Given the description of an element on the screen output the (x, y) to click on. 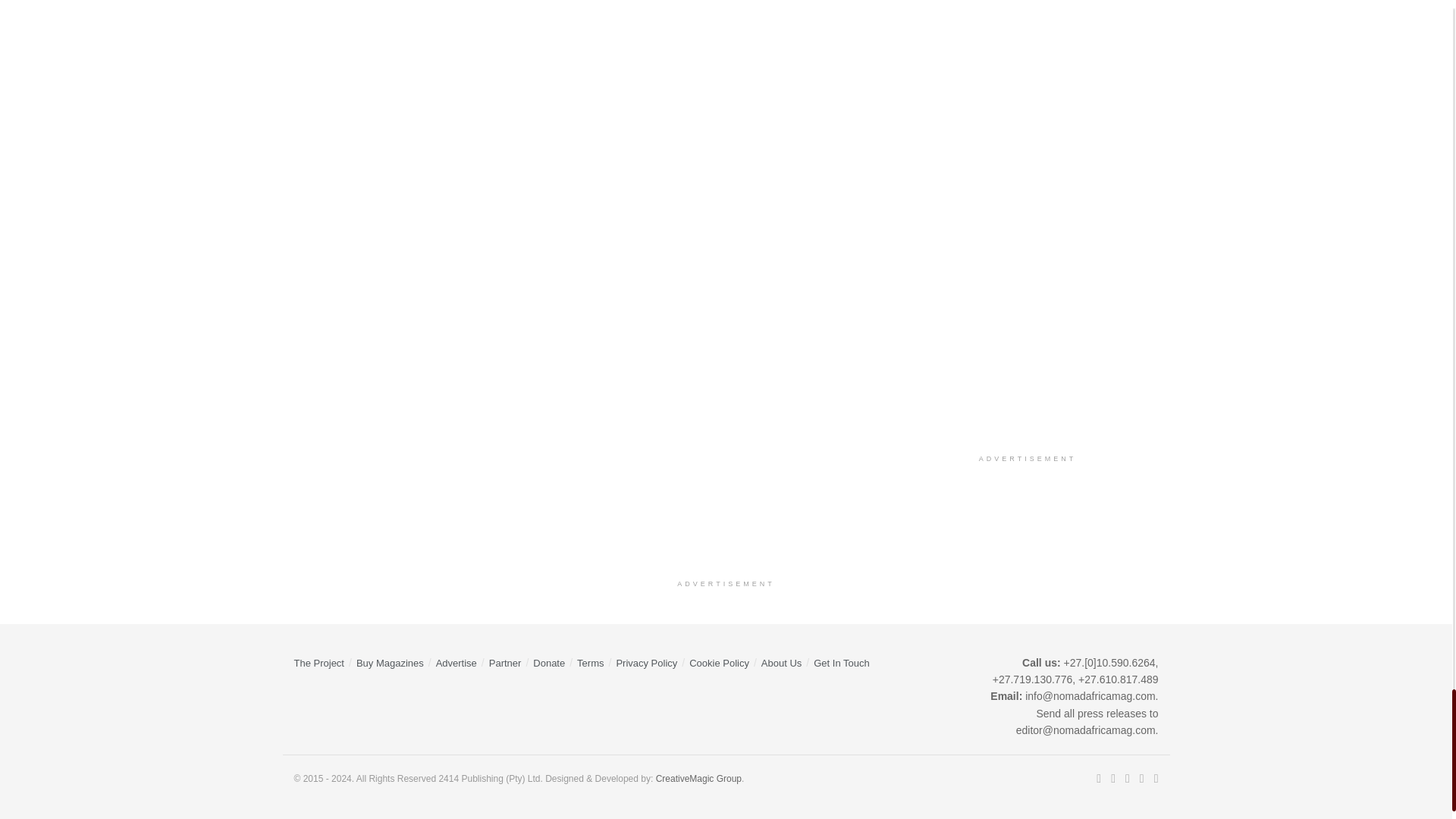
CreativeMagic Group (698, 778)
